Given the description of an element on the screen output the (x, y) to click on. 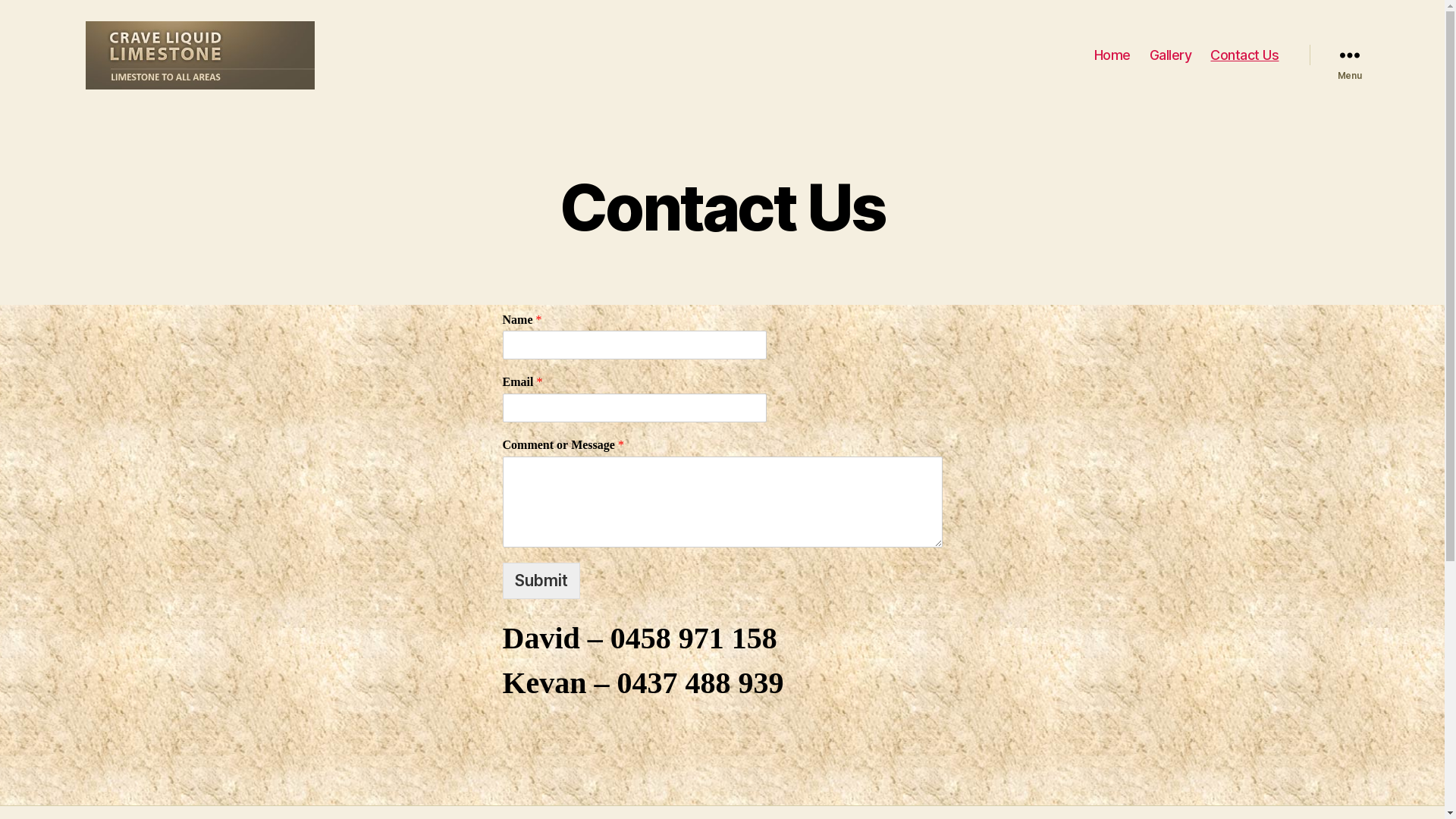
Menu Element type: text (1348, 55)
Gallery Element type: text (1170, 55)
Submit Element type: text (540, 580)
Contact Us Element type: text (1244, 55)
Home Element type: text (1112, 55)
